Given the description of an element on the screen output the (x, y) to click on. 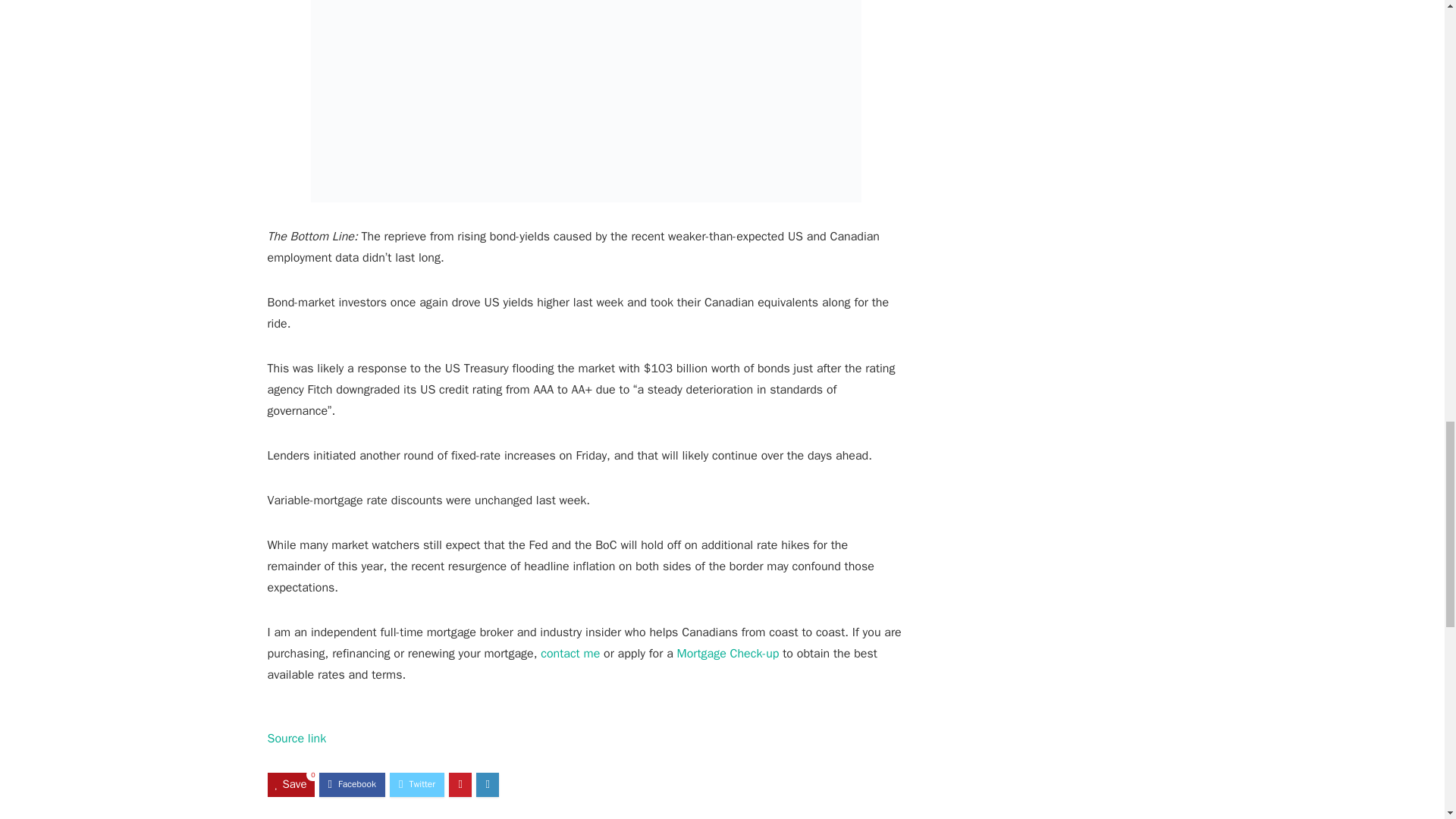
contact me (569, 653)
Mortgage Check-up (727, 653)
Source link (296, 738)
